Given the description of an element on the screen output the (x, y) to click on. 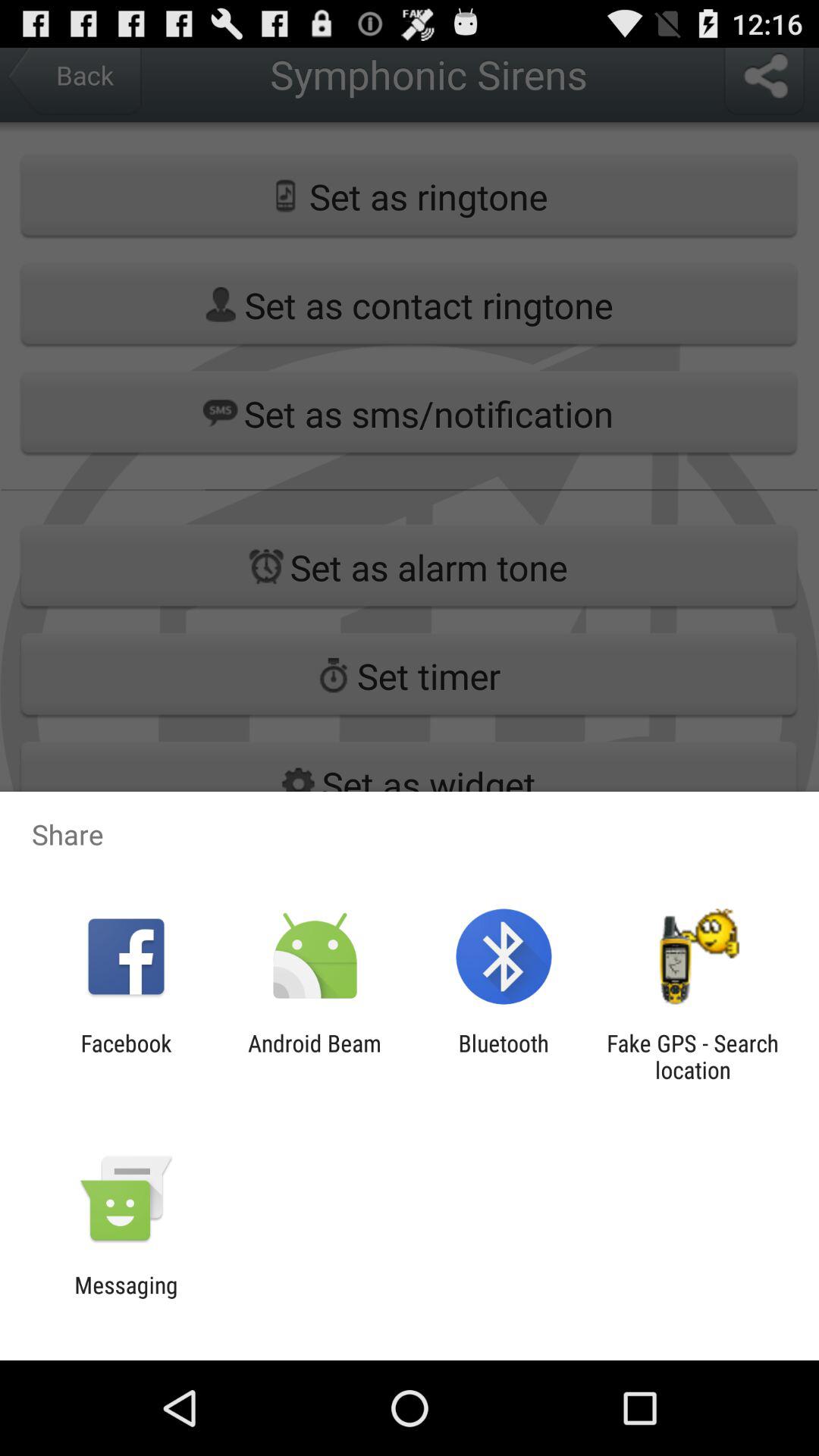
click the icon next to the fake gps search item (503, 1056)
